Given the description of an element on the screen output the (x, y) to click on. 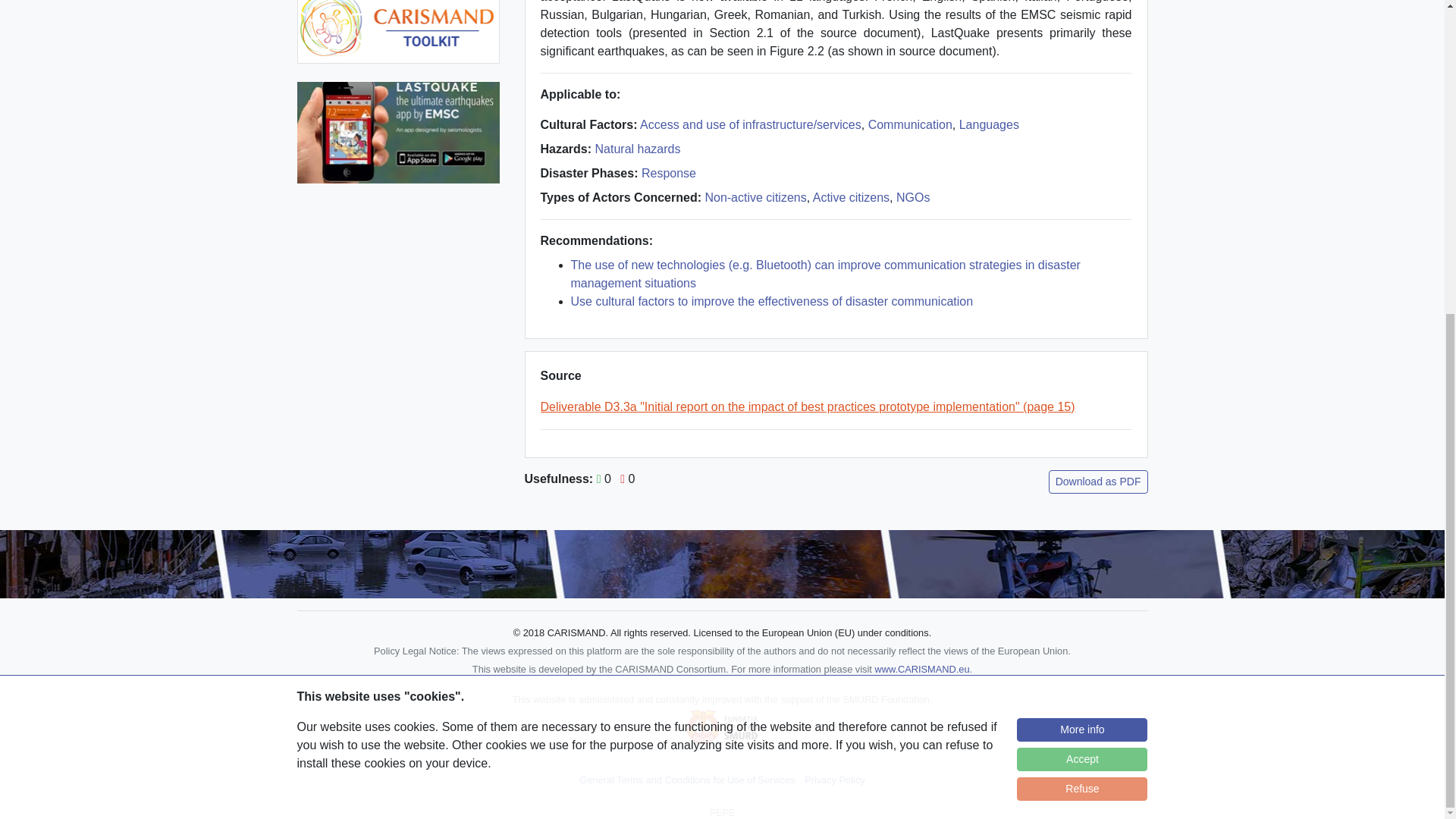
Response (668, 173)
NGOs (913, 196)
Languages (989, 124)
CARISMAND Toolkit (398, 24)
Communication (909, 124)
Natural hazards (638, 148)
LASTQUAKE the ultimate earthquakes app by EMSC (398, 131)
Active citizens (850, 196)
Non-active citizens (755, 196)
